Given the description of an element on the screen output the (x, y) to click on. 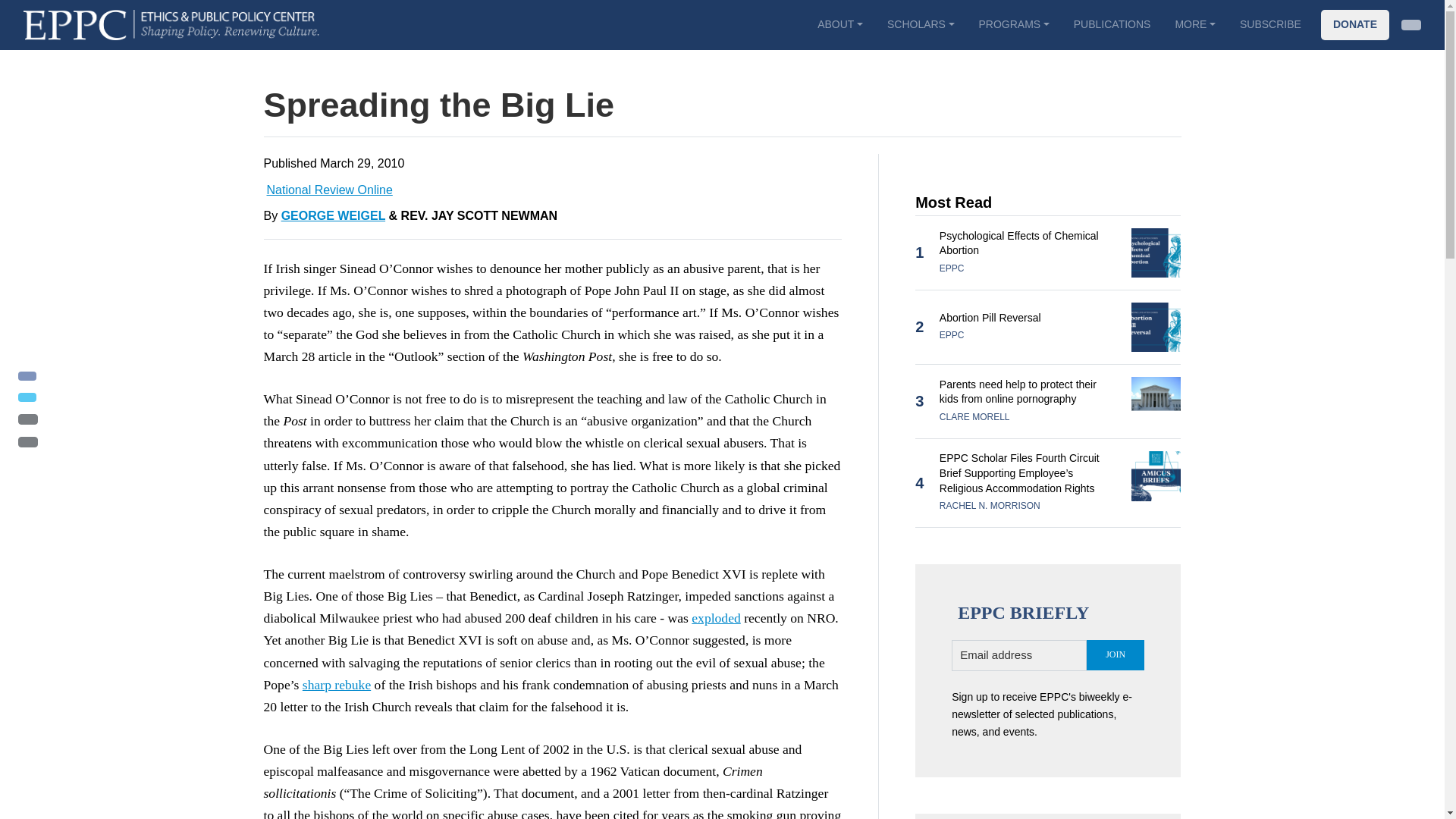
SCHOLARS (920, 24)
JOIN (1115, 654)
ABOUT (840, 24)
